Given the description of an element on the screen output the (x, y) to click on. 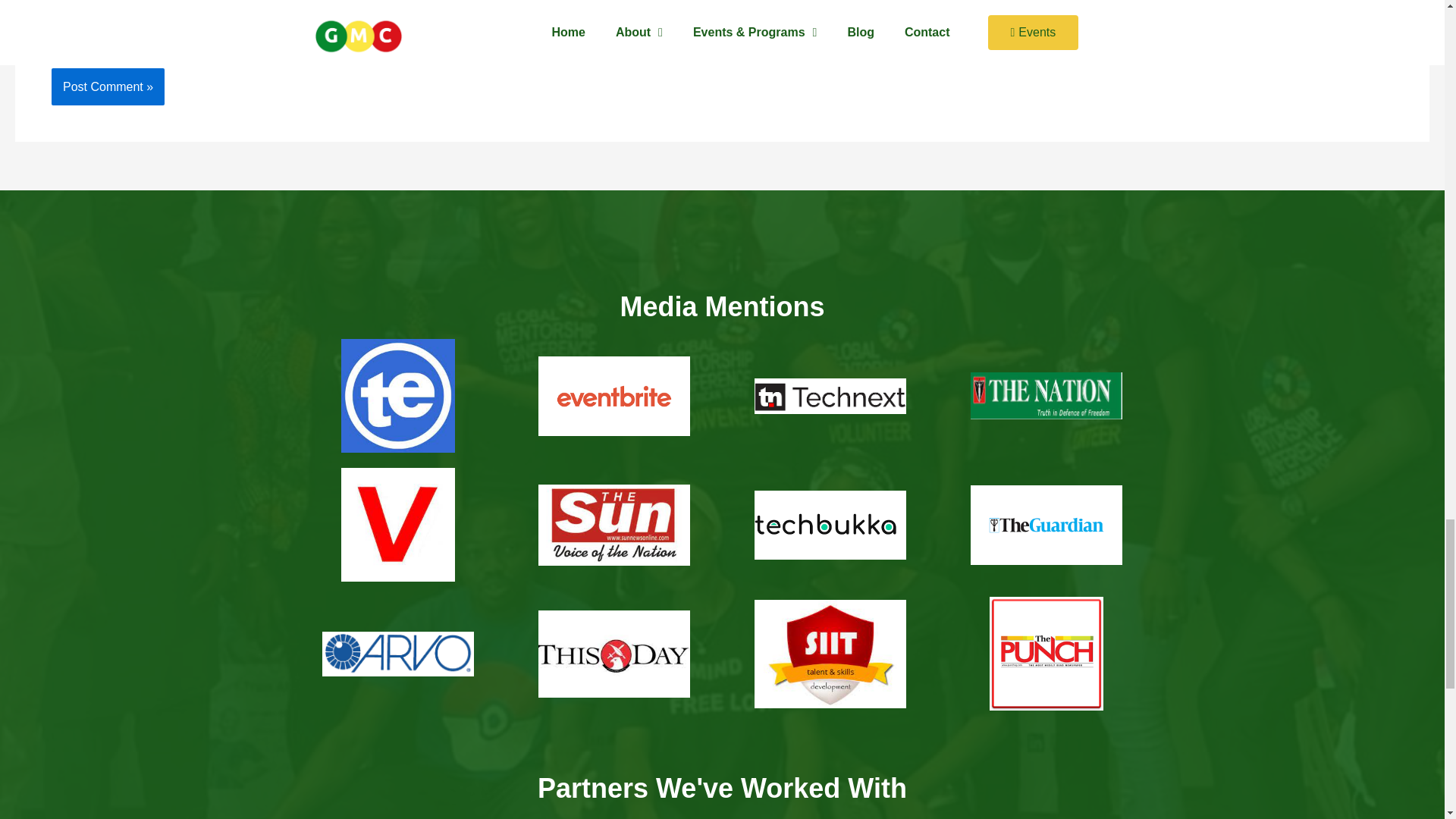
yes (55, 34)
